Given the description of an element on the screen output the (x, y) to click on. 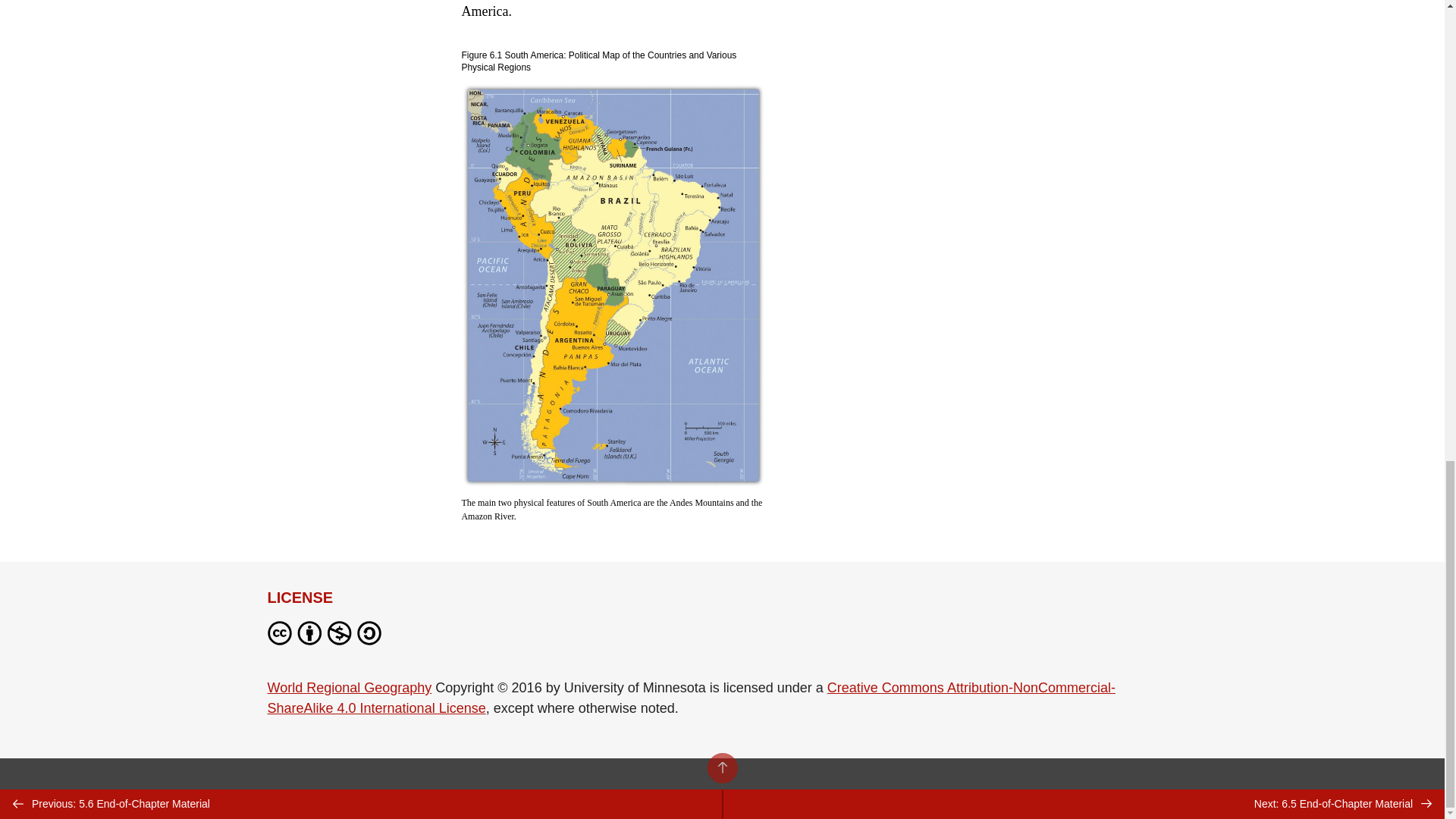
World Regional Geography (348, 687)
